Given the description of an element on the screen output the (x, y) to click on. 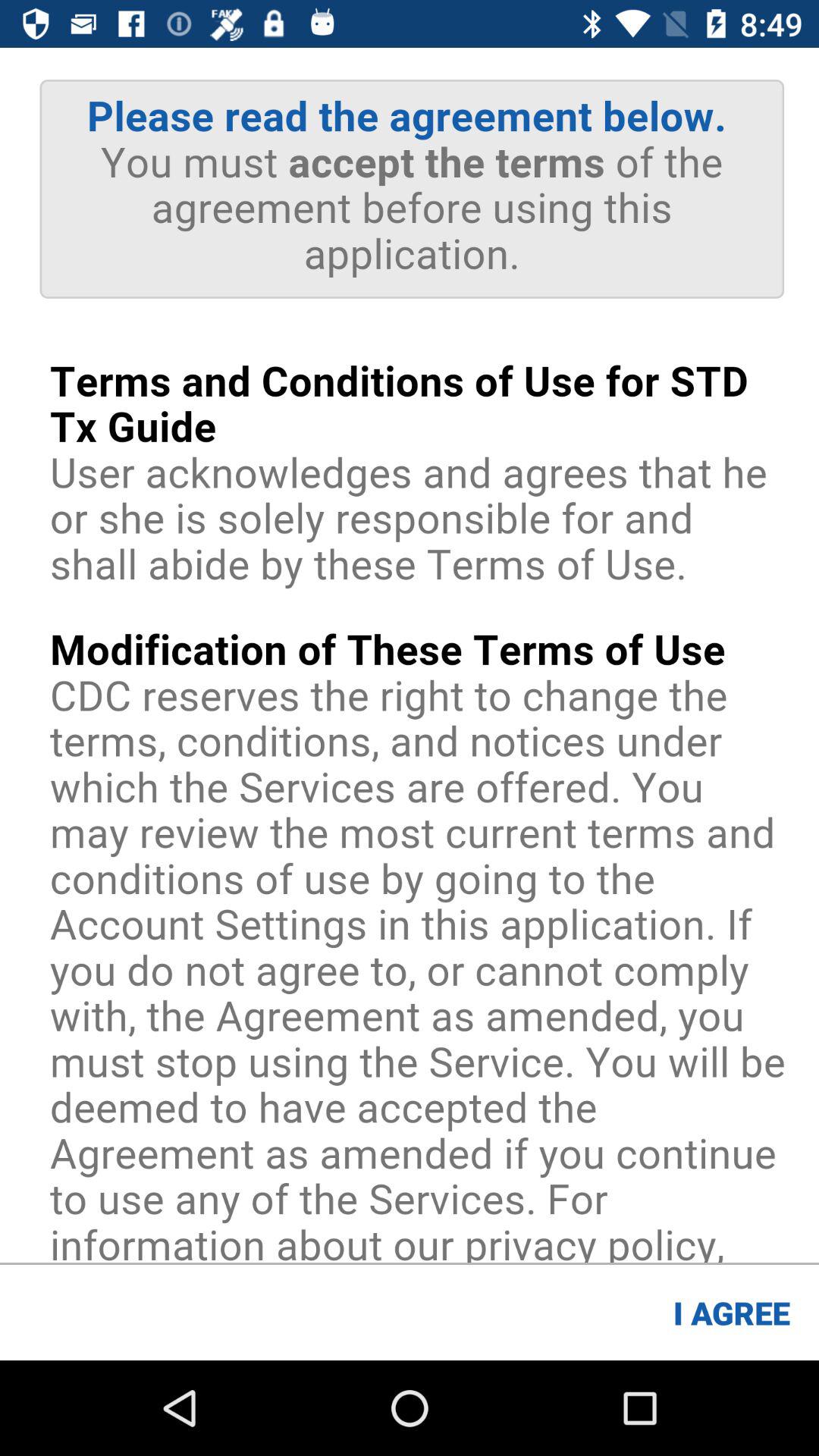
advertisement page (409, 654)
